Given the description of an element on the screen output the (x, y) to click on. 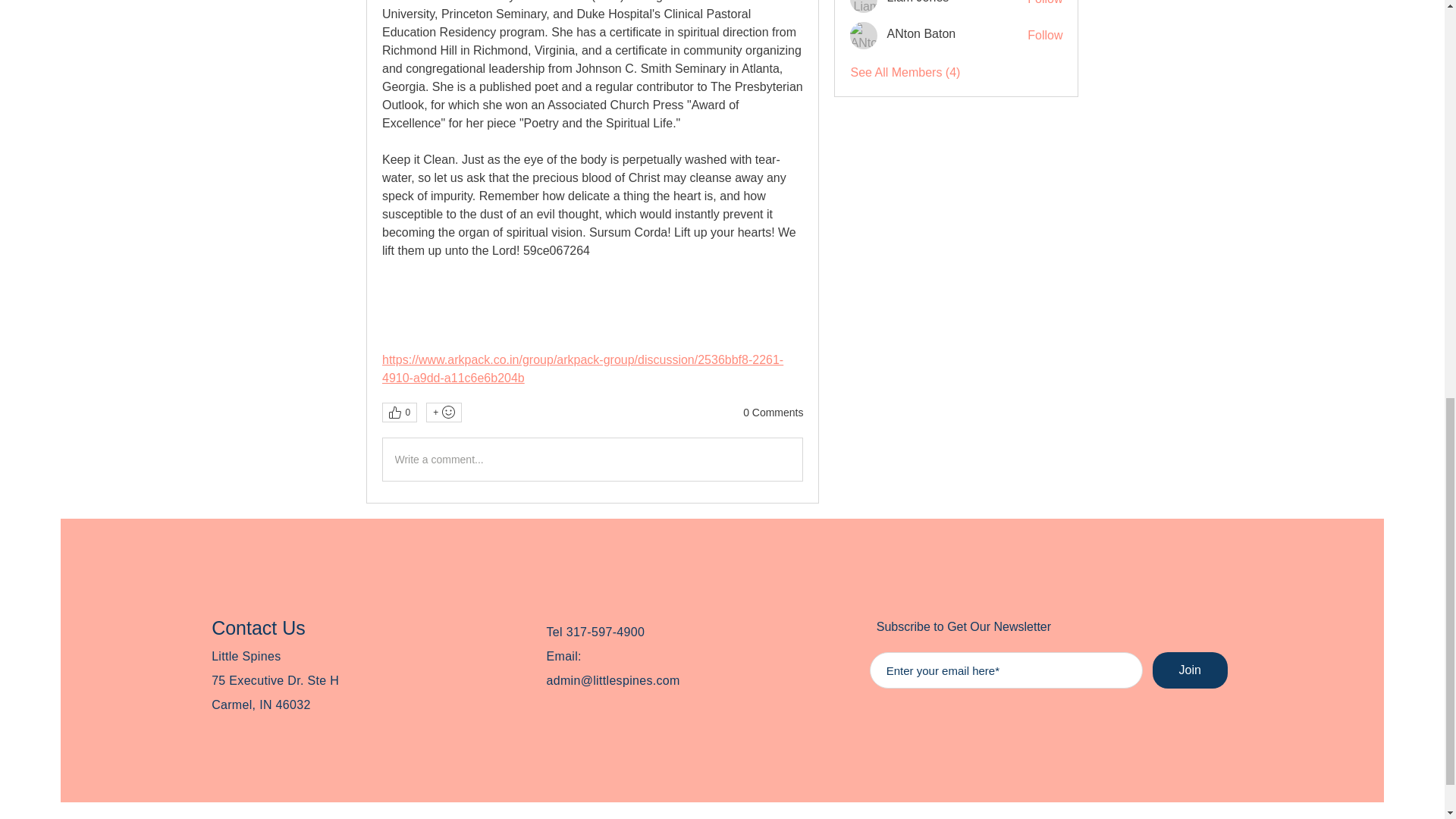
Follow (1044, 3)
Liam Jones (917, 2)
Write a comment... (591, 459)
Liam Jones (863, 6)
Liam Jones (917, 2)
Follow (1044, 35)
ANton Baton (920, 33)
ANton Baton (863, 35)
